Given the description of an element on the screen output the (x, y) to click on. 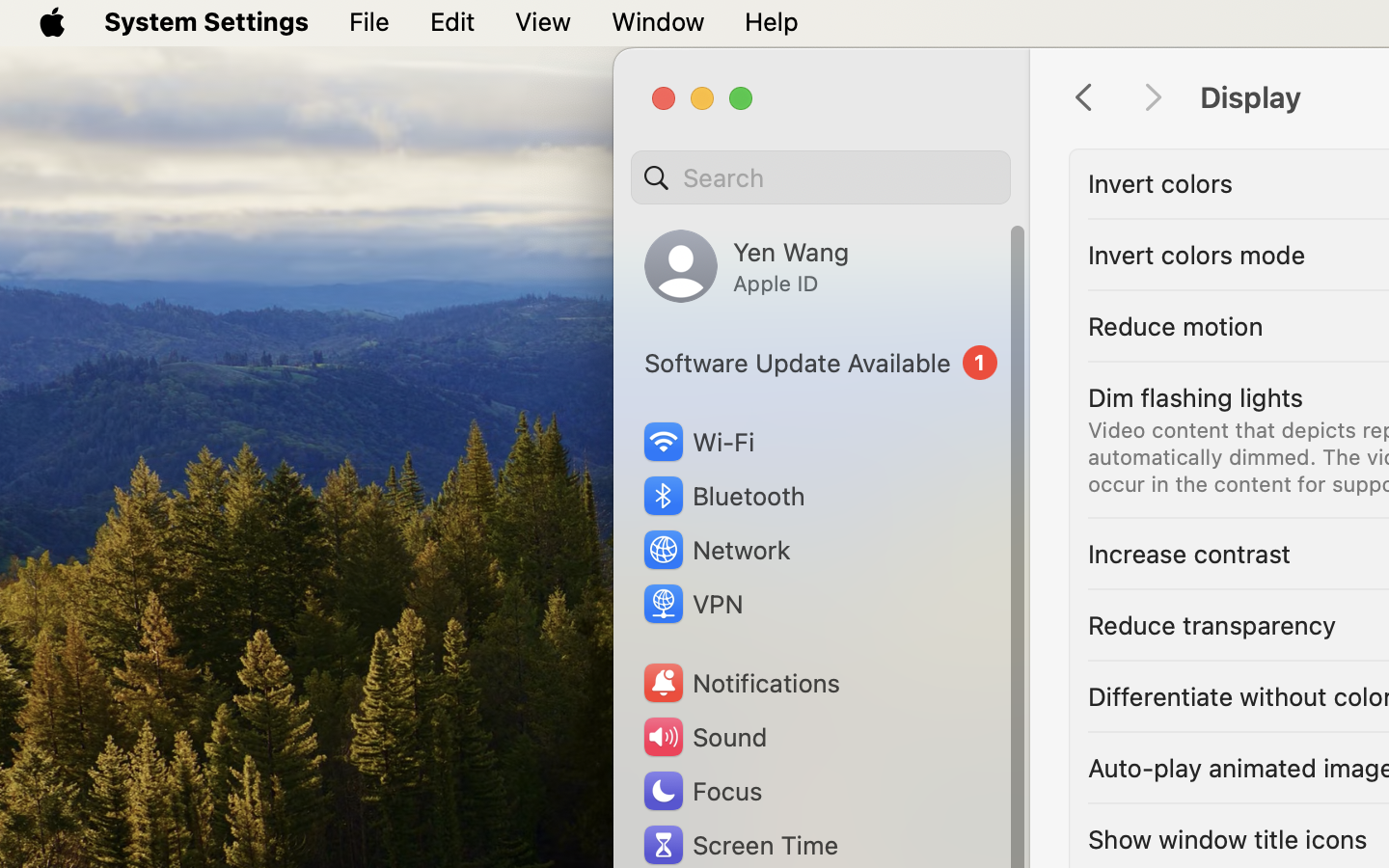
Show window title icons Element type: AXStaticText (1227, 838)
Bluetooth Element type: AXStaticText (723, 495)
Focus Element type: AXStaticText (701, 790)
Reduce transparency Element type: AXStaticText (1212, 624)
Reduce motion Element type: AXStaticText (1175, 325)
